Given the description of an element on the screen output the (x, y) to click on. 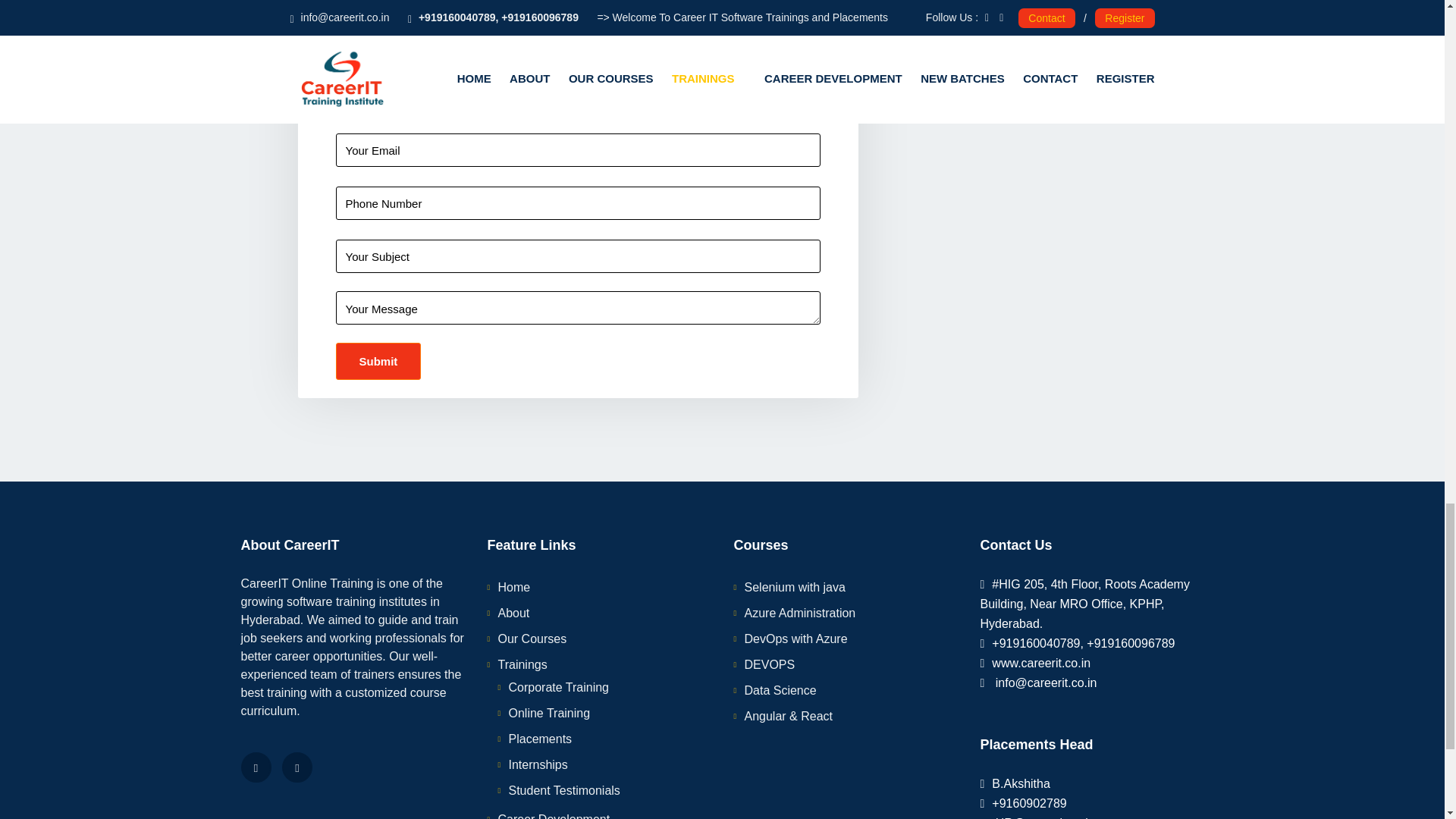
Internships (537, 764)
Our Courses (531, 638)
Corporate Training (558, 686)
Placements (540, 738)
Home (513, 586)
Career IT Software Trainings and Placements (1009, 219)
Submit (377, 361)
Trainings (528, 664)
Career Development (553, 816)
Student Testimonials (564, 789)
